Given the description of an element on the screen output the (x, y) to click on. 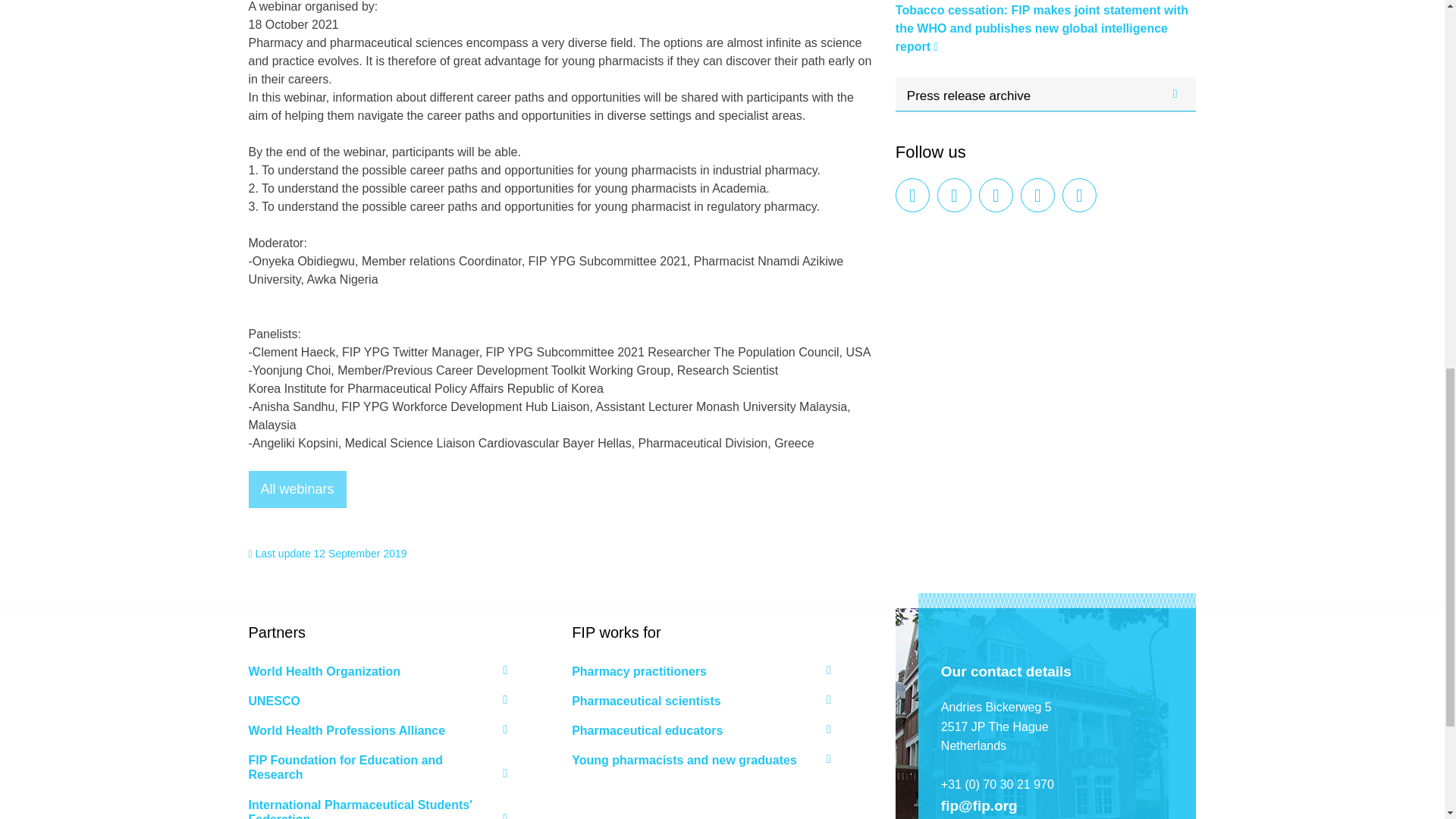
All webinars (297, 488)
